Given the description of an element on the screen output the (x, y) to click on. 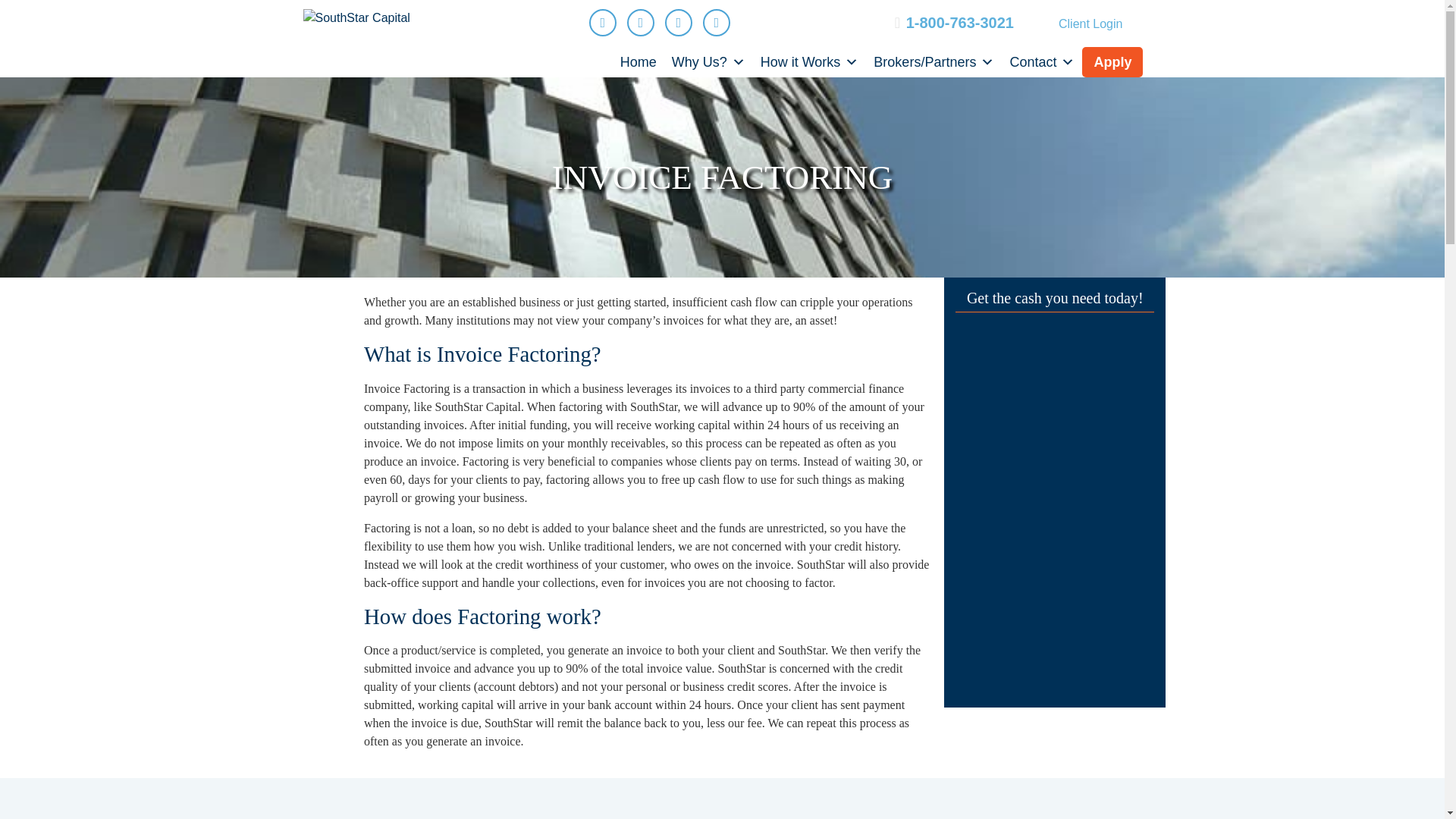
Home (637, 61)
Client Login (1090, 23)
Contact (1041, 61)
Why Us? (707, 61)
1-800-763-3021 (959, 22)
Apply (1111, 61)
Visit us on X (641, 22)
How it Works (809, 61)
Visit us on Youtube (716, 22)
Visit us on LinkedIn (678, 22)
